Given the description of an element on the screen output the (x, y) to click on. 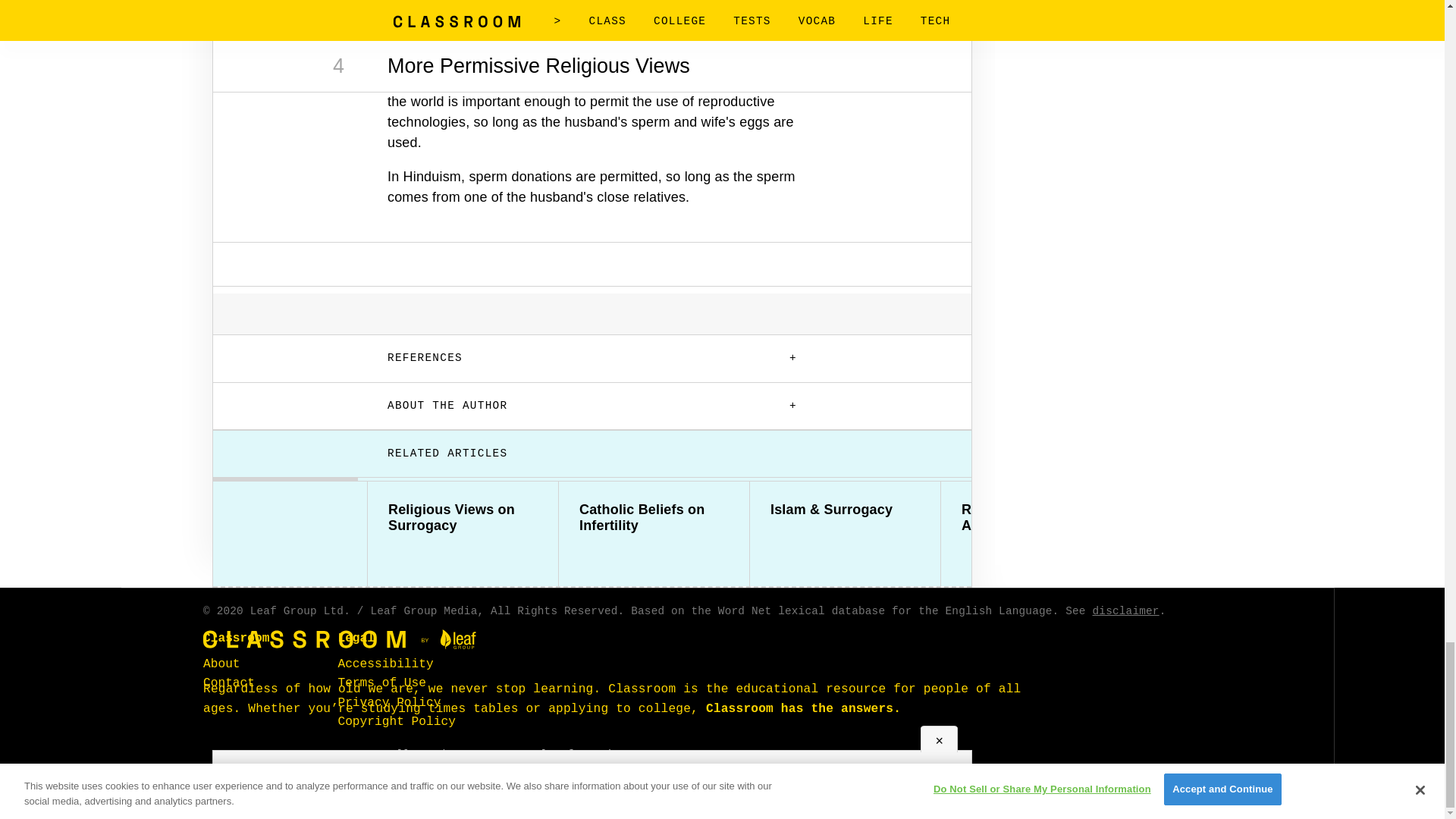
Religious Views on Surrogacy (462, 517)
Religious Beliefs and Assisted Suicide (1035, 517)
Catholic Beliefs on Infertility (654, 517)
About (221, 663)
